Given the description of an element on the screen output the (x, y) to click on. 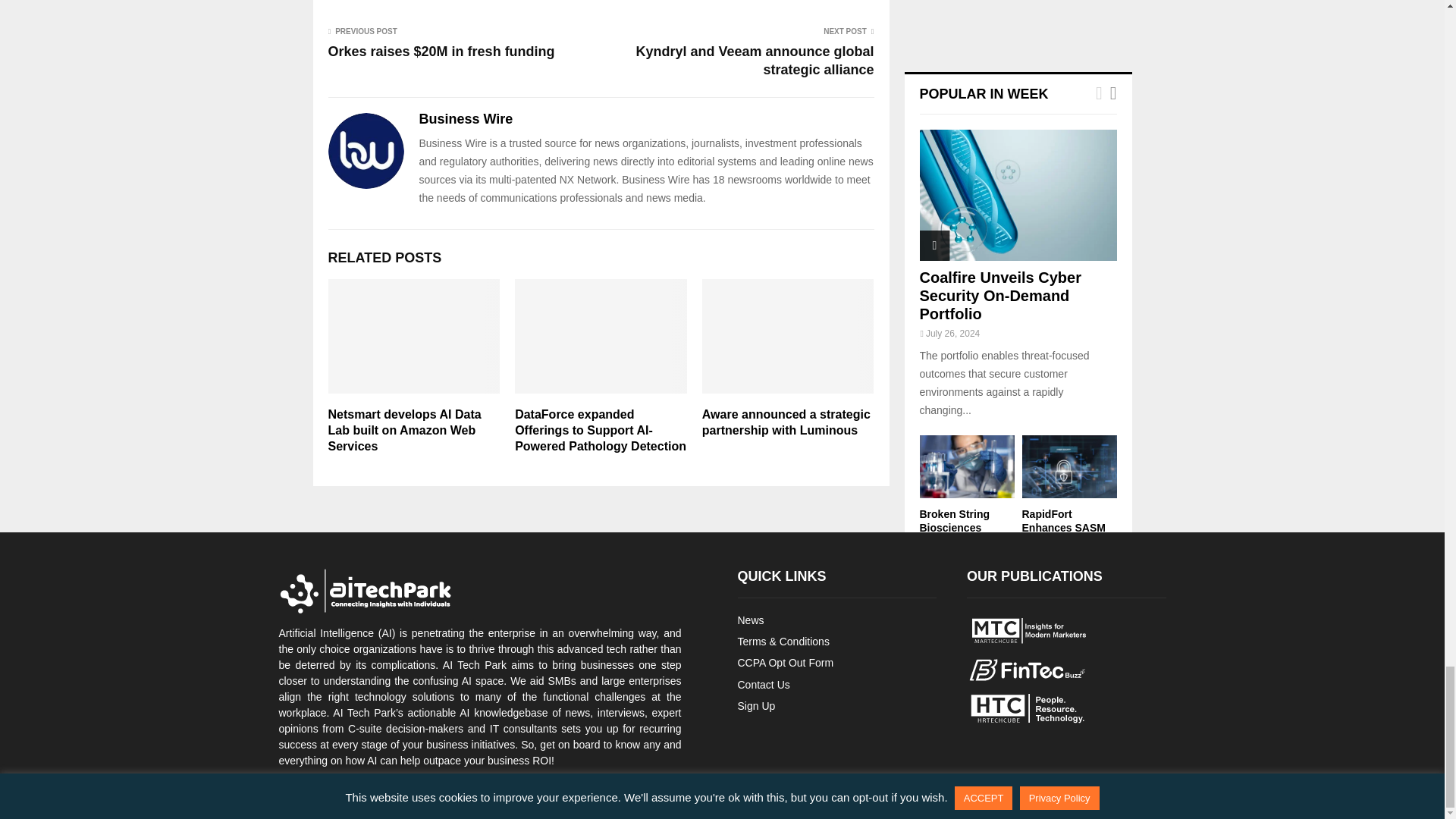
Posts by Business Wire (465, 118)
